Given the description of an element on the screen output the (x, y) to click on. 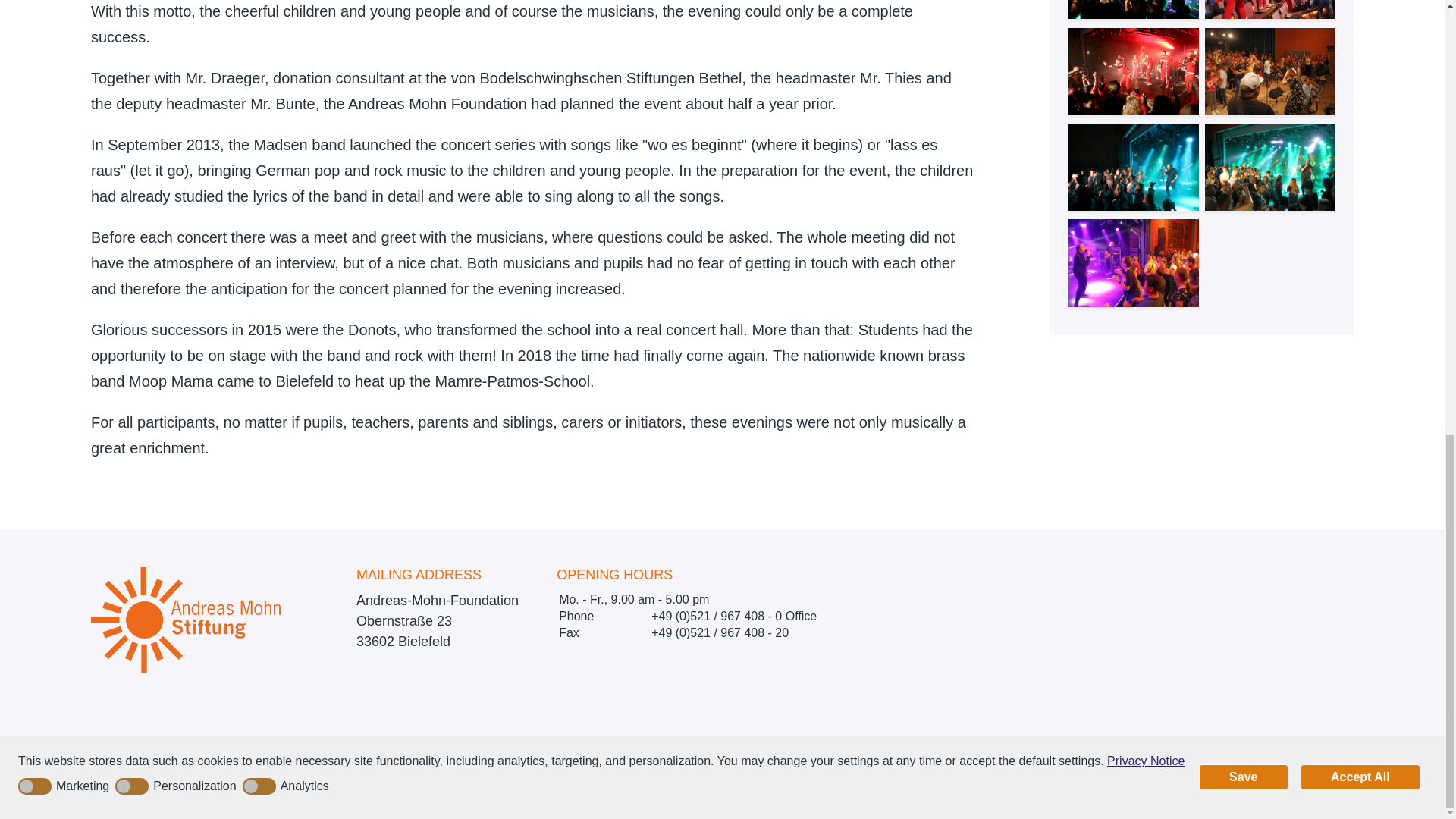
Moop Mamma on stage (1133, 71)
Band Moop Mamma on stange (1133, 9)
Moop Mama plays between the audience (1270, 9)
